Given the description of an element on the screen output the (x, y) to click on. 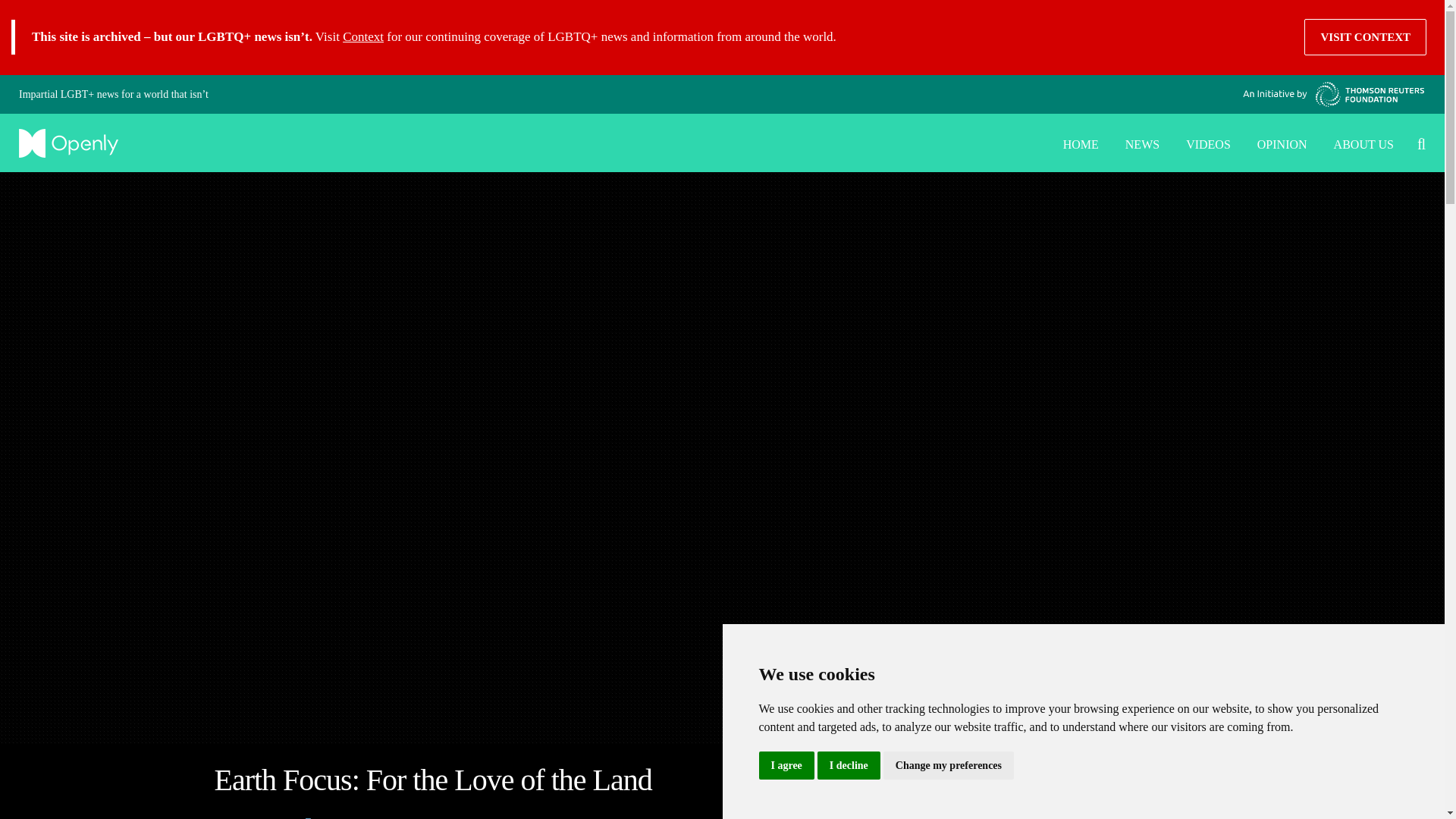
OPINION (1278, 143)
NEWS (1138, 143)
I decline (848, 765)
Context (363, 36)
HOME (1077, 143)
I agree (785, 765)
Change my preferences (948, 765)
Nicky Milne (262, 817)
VIDEOS (1204, 143)
VISIT CONTEXT (1365, 36)
ABOUT US (1360, 143)
